Given the description of an element on the screen output the (x, y) to click on. 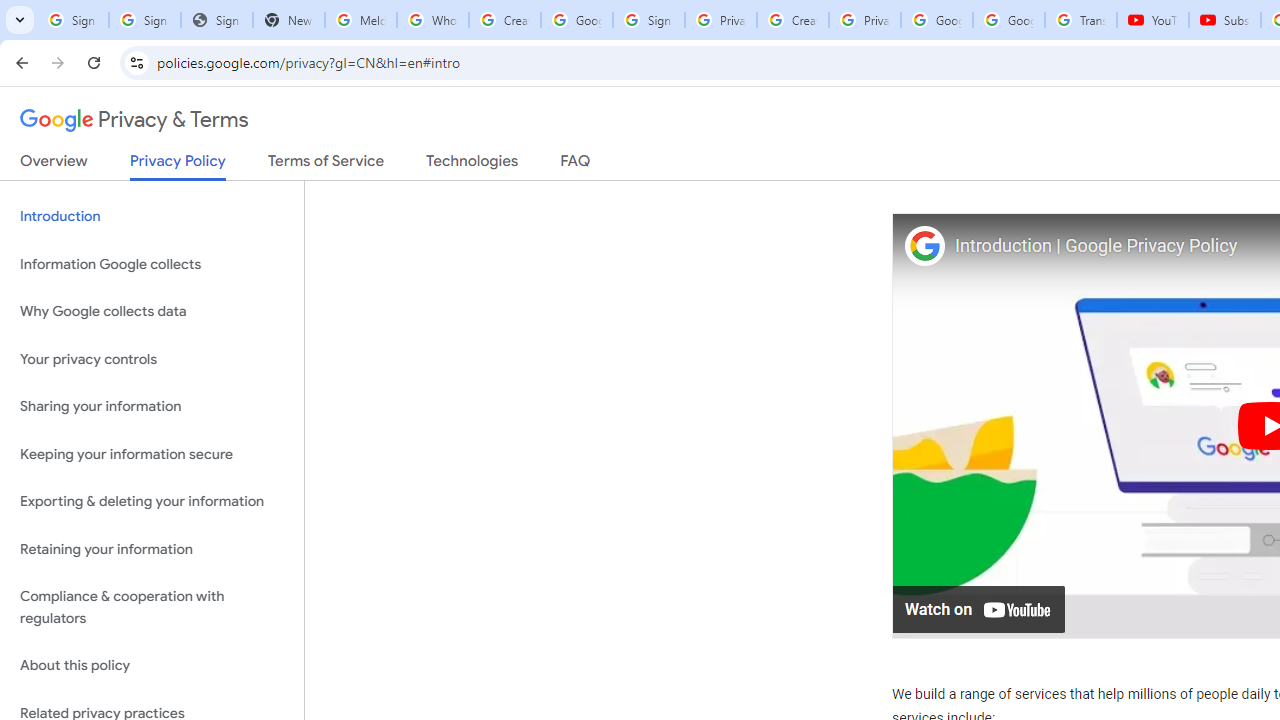
YouTube (1153, 20)
Exporting & deleting your information (152, 502)
Subscriptions - YouTube (1224, 20)
Your privacy controls (152, 358)
Watch on YouTube (979, 608)
Compliance & cooperation with regulators (152, 607)
Sign In - USA TODAY (216, 20)
